Given the description of an element on the screen output the (x, y) to click on. 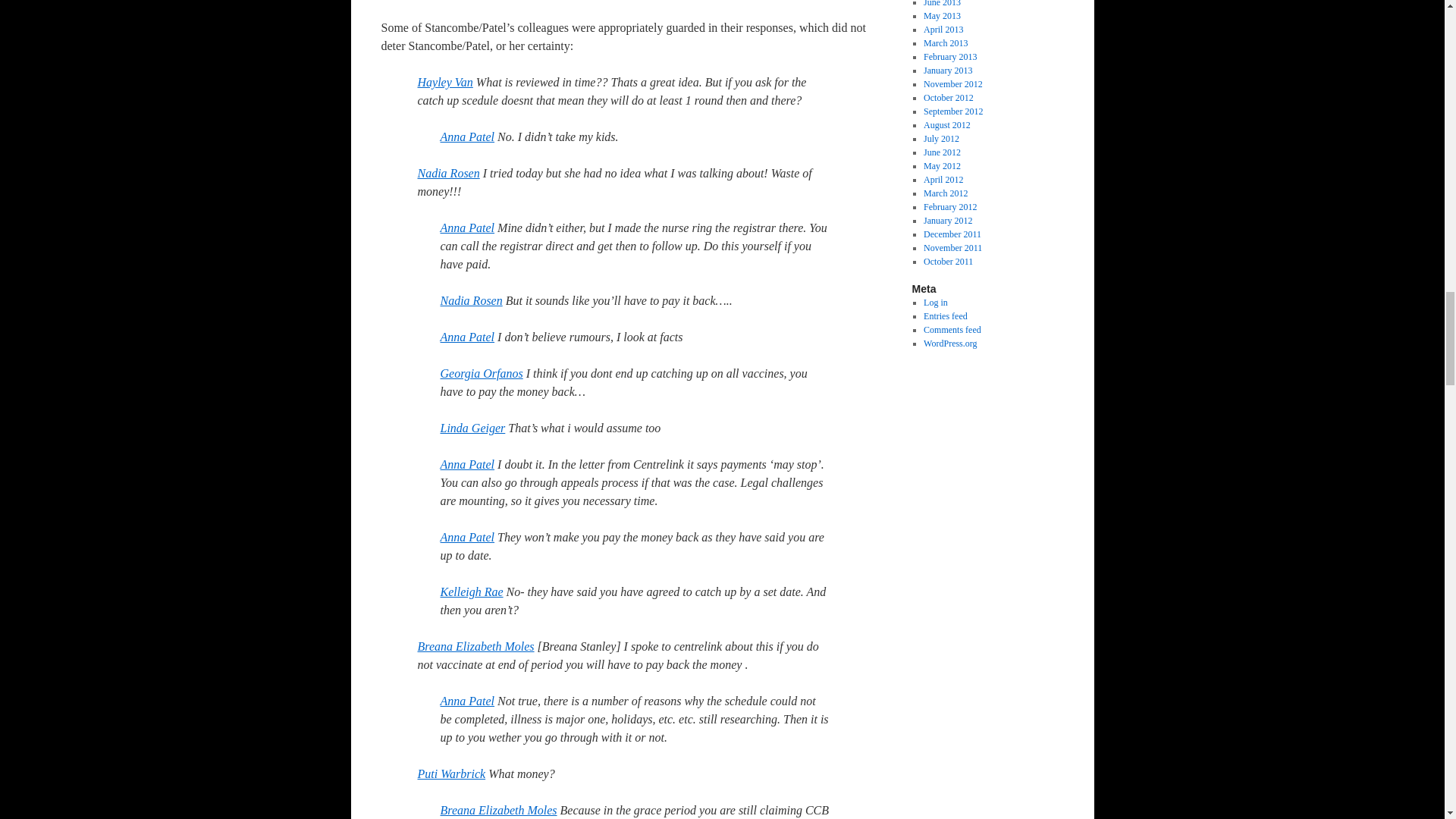
Anna Patel (467, 700)
Hayley Van (443, 82)
Breana Elizabeth Moles (475, 645)
Anna Patel (467, 336)
Anna Patel (467, 536)
Anna Patel (467, 136)
Anna Patel (467, 227)
Anna Patel (467, 463)
Georgia Orfanos (480, 373)
Nadia Rosen (447, 173)
Nadia Rosen (470, 300)
Linda Geiger (472, 427)
Kelleigh Rae (470, 591)
